Given the description of an element on the screen output the (x, y) to click on. 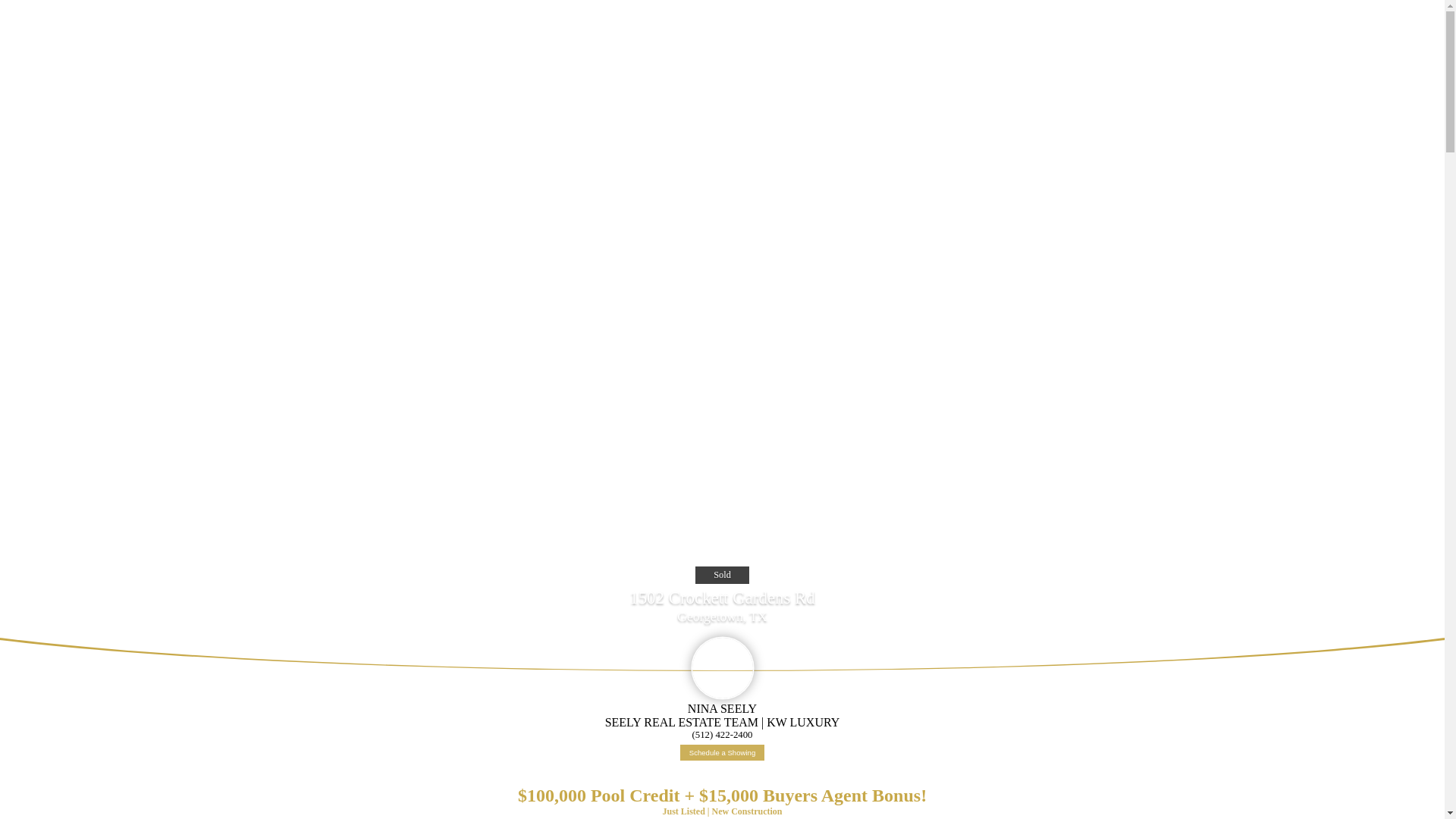
Schedule a Showing Element type: text (722, 752)
